Given the description of an element on the screen output the (x, y) to click on. 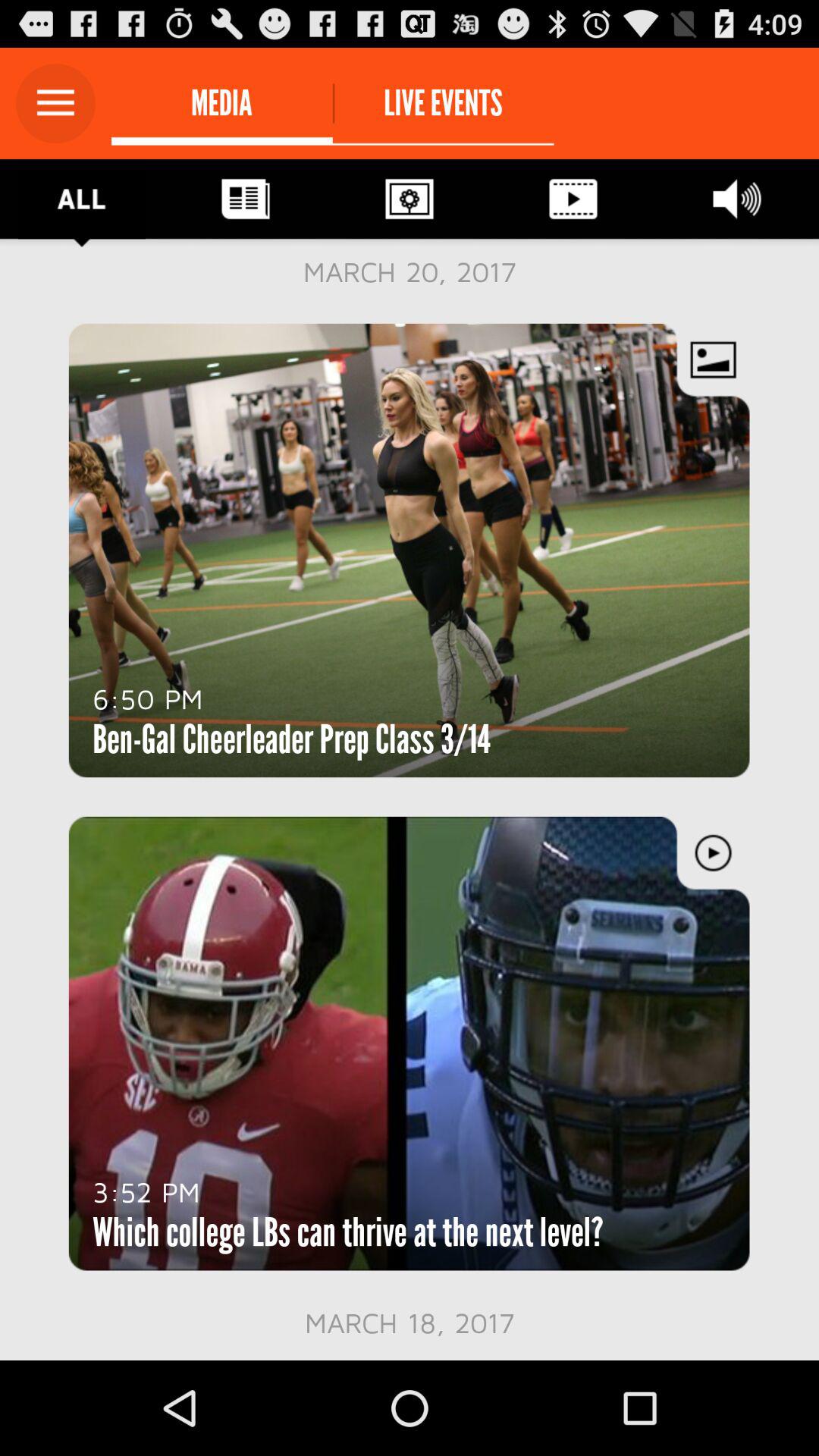
turn off item next to the media item (55, 103)
